Given the description of an element on the screen output the (x, y) to click on. 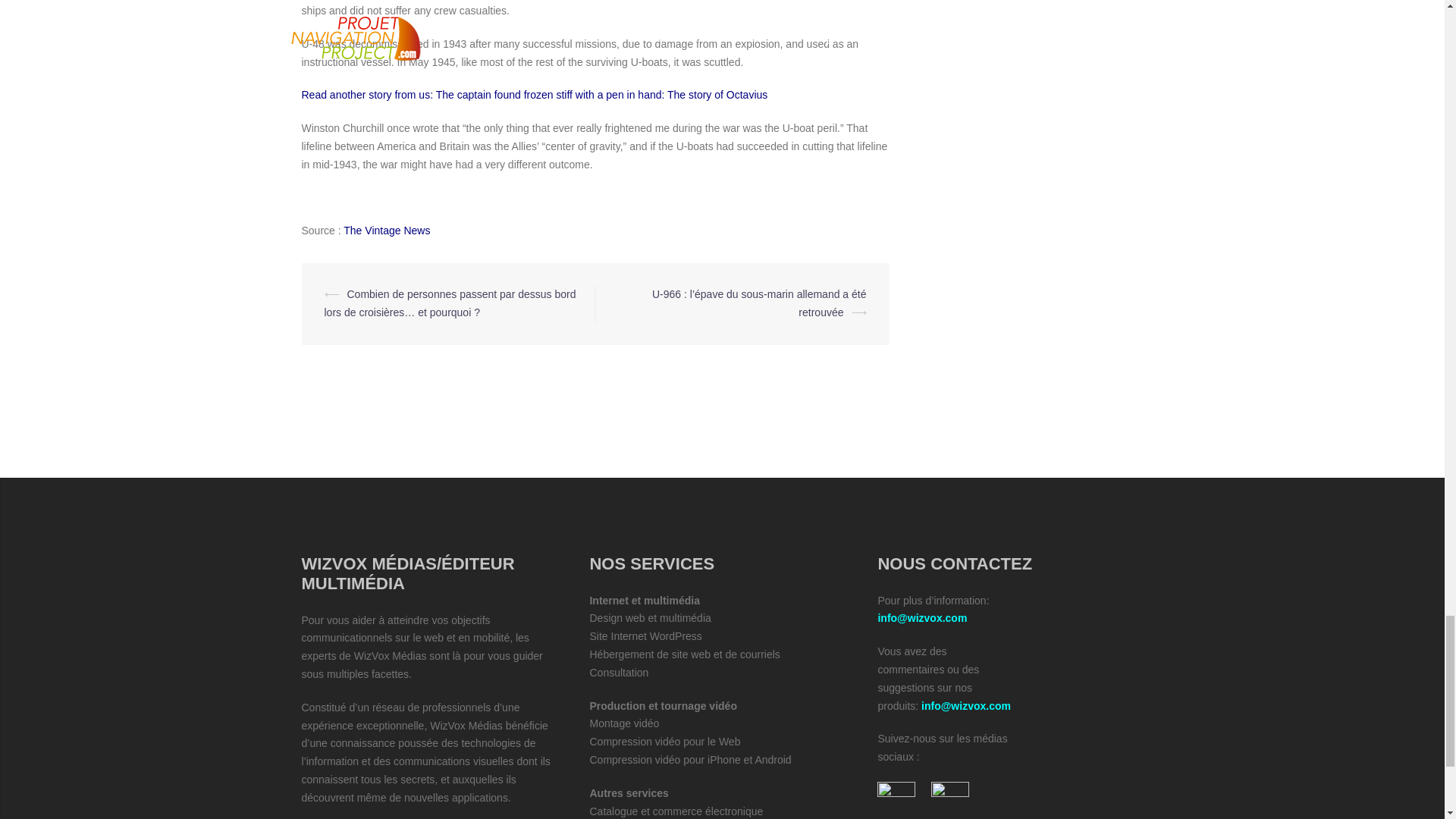
The Vintage News (386, 230)
